Given the description of an element on the screen output the (x, y) to click on. 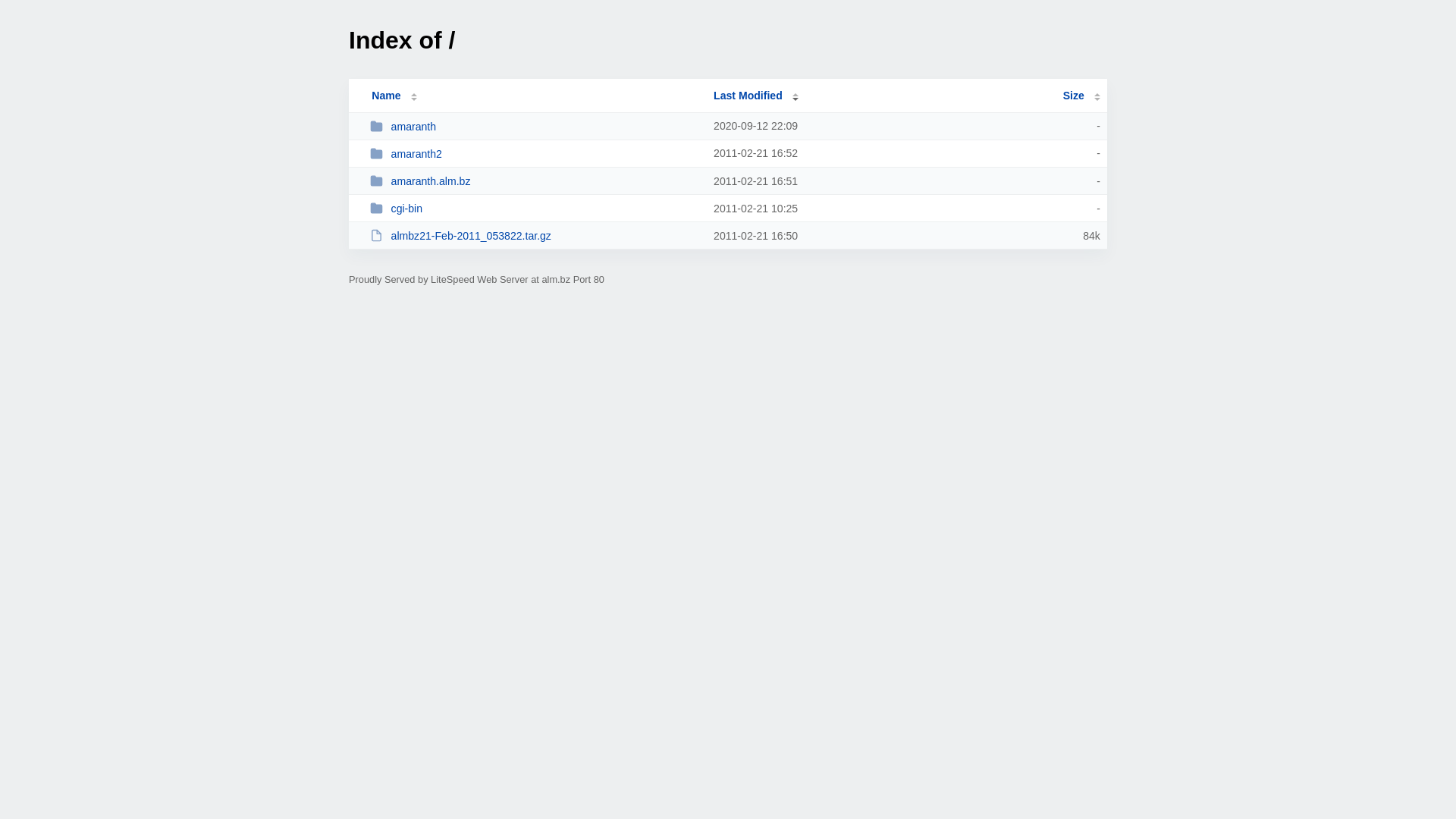
amaranth.alm.bz Element type: text (534, 180)
almbz21-Feb-2011_053822.tar.gz Element type: text (534, 235)
Size Element type: text (1081, 95)
Name Element type: text (385, 95)
cgi-bin Element type: text (534, 207)
amaranth Element type: text (534, 125)
Last Modified Element type: text (755, 95)
amaranth2 Element type: text (534, 153)
